Given the description of an element on the screen output the (x, y) to click on. 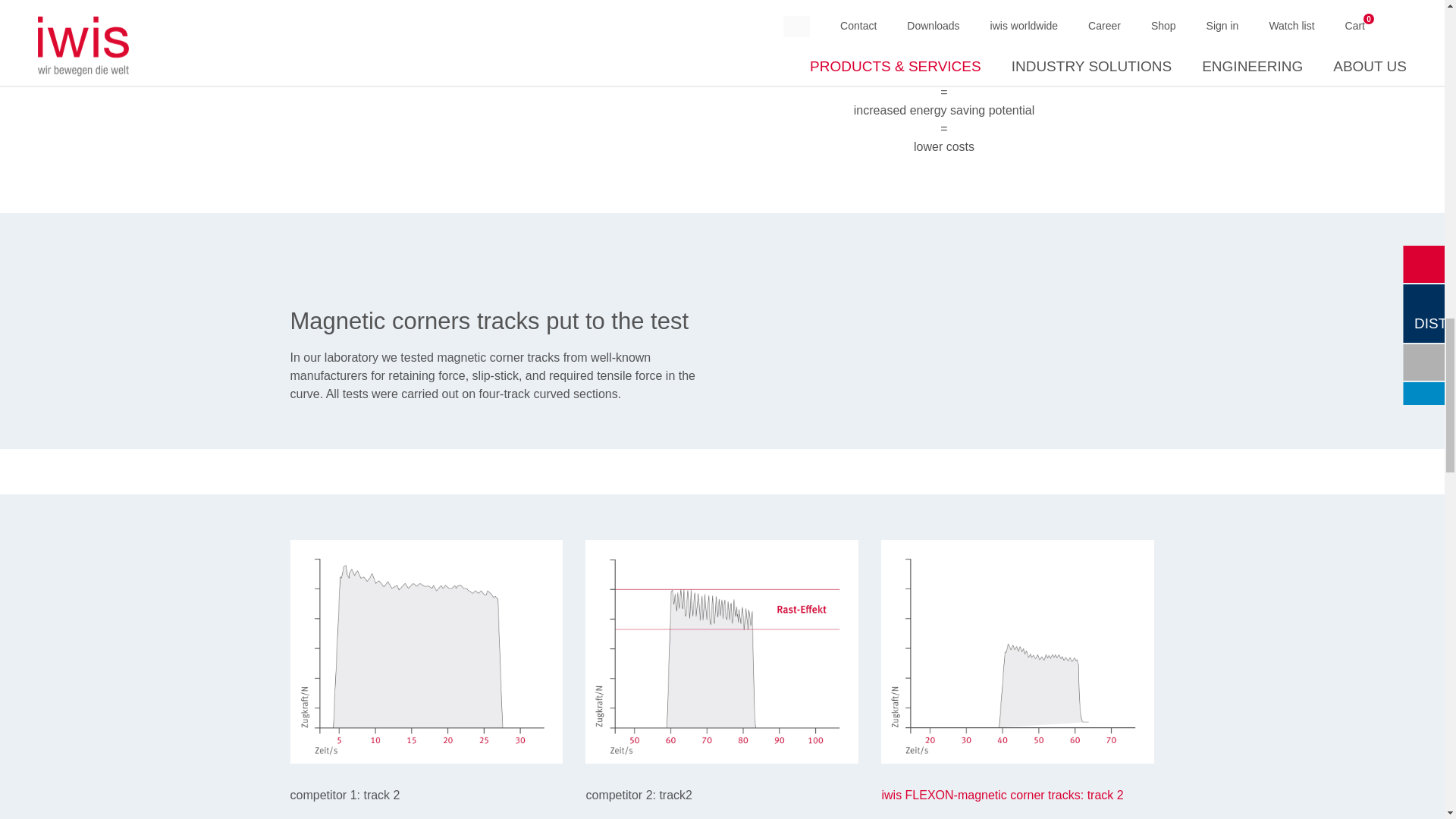
iwis Flexon magnetic corner tracks test result competitor2 (722, 651)
iwis Flexon magnetic corner tracks test result competitor1 (425, 651)
iwis Flexon magnetic corner tracks lowest pulsation (1017, 651)
